Given the description of an element on the screen output the (x, y) to click on. 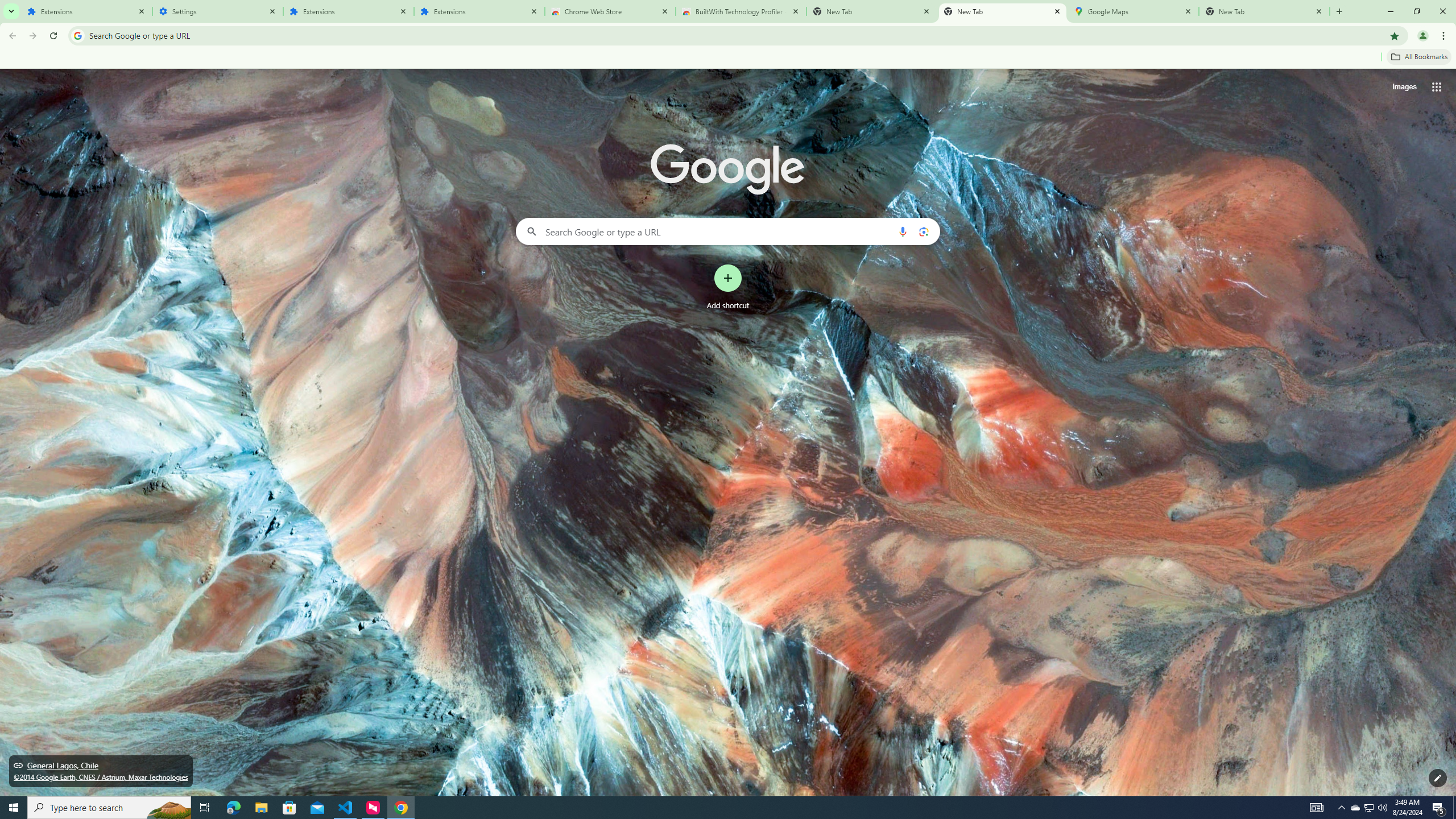
Customize this page (1437, 778)
New Tab (1264, 11)
BuiltWith Technology Profiler - Chrome Web Store (740, 11)
Extensions (348, 11)
Extensions (86, 11)
